Given the description of an element on the screen output the (x, y) to click on. 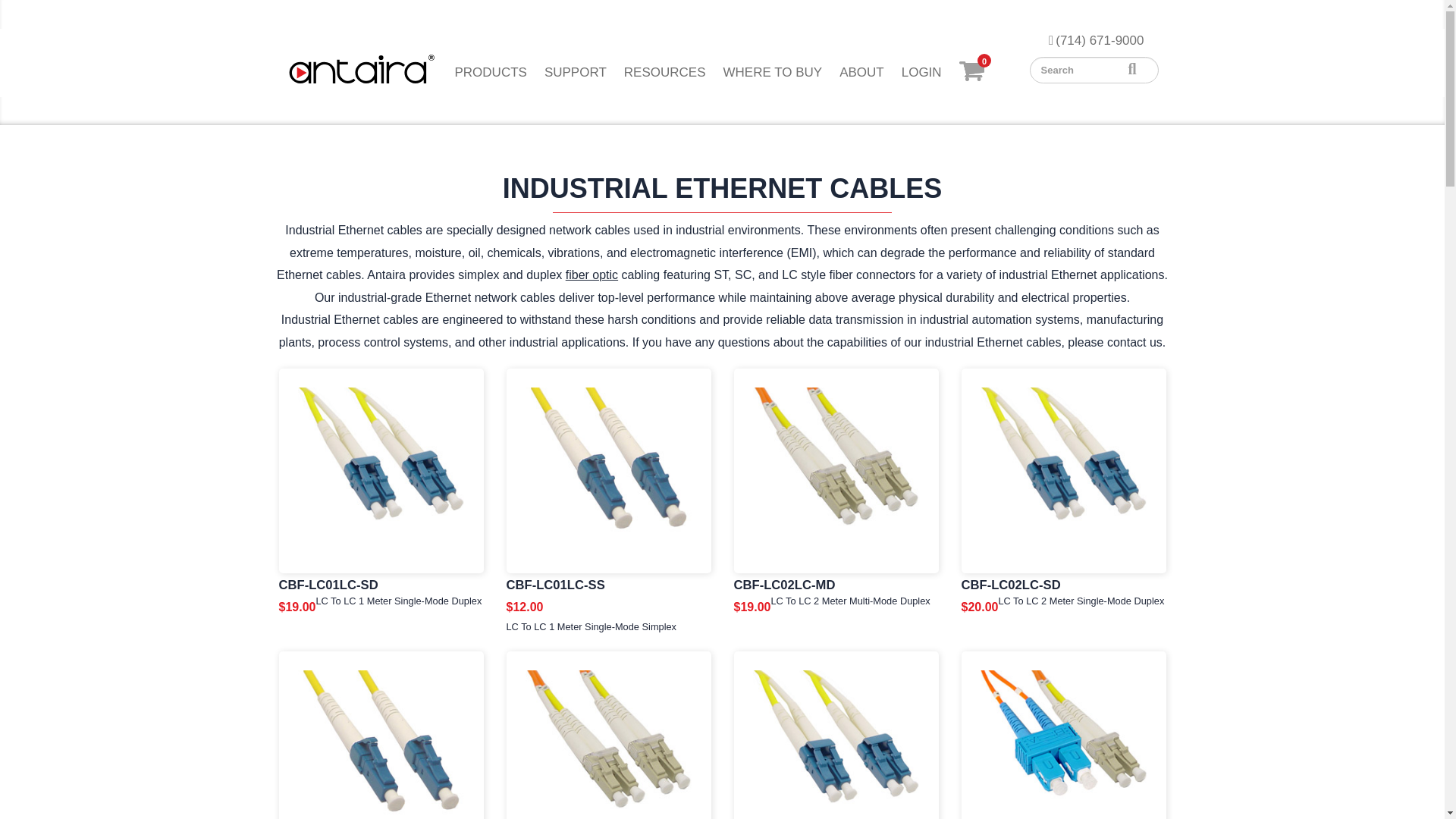
PRODUCTS (489, 72)
